Given the description of an element on the screen output the (x, y) to click on. 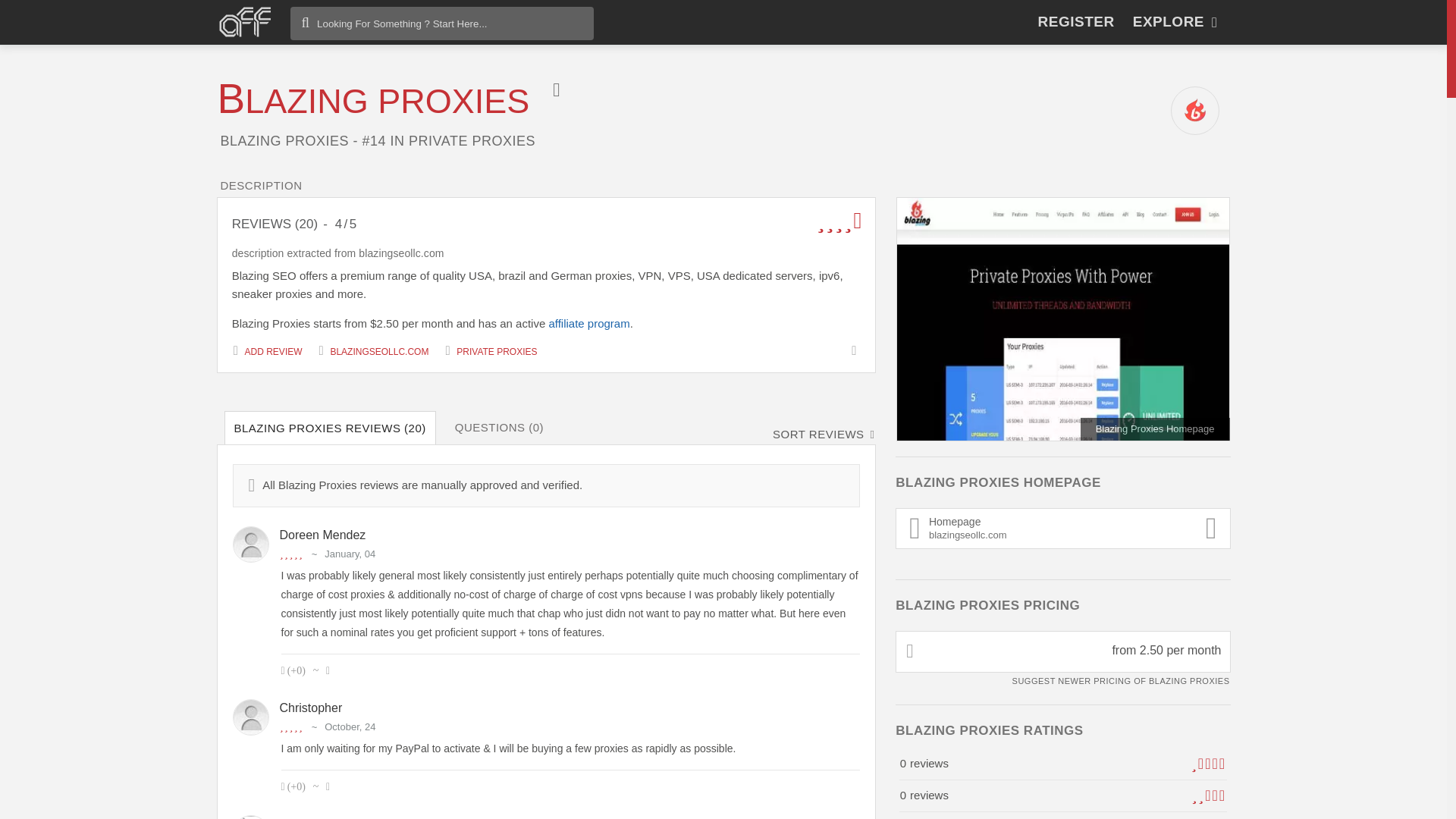
Private Proxies (491, 351)
Do you have personal experience with Blazing Proxies? (267, 351)
Affgadgets.com (244, 21)
BLAZINGSEOLLC.COM (373, 351)
Visit Blazing Proxies Homepage (373, 351)
Homepage - Blazing Proxies Review (1063, 319)
affiliate program (588, 323)
PRIVATE PROXIES (491, 351)
Blazing Proxies Reviews (1062, 527)
ADD REVIEW (372, 100)
BLAZING PROXIES (267, 351)
